Given the description of an element on the screen output the (x, y) to click on. 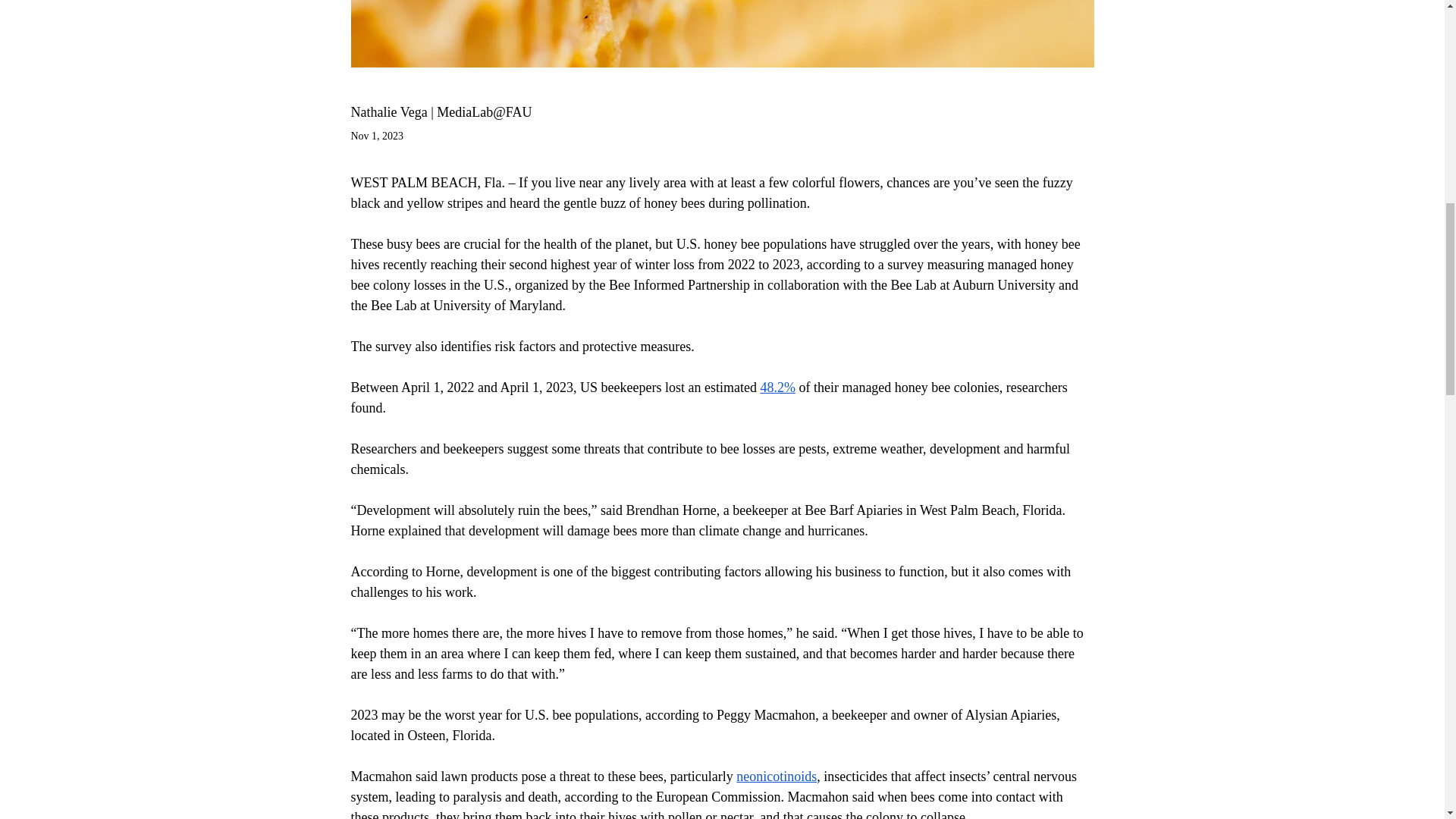
neonicotinoids (776, 776)
